Given the description of an element on the screen output the (x, y) to click on. 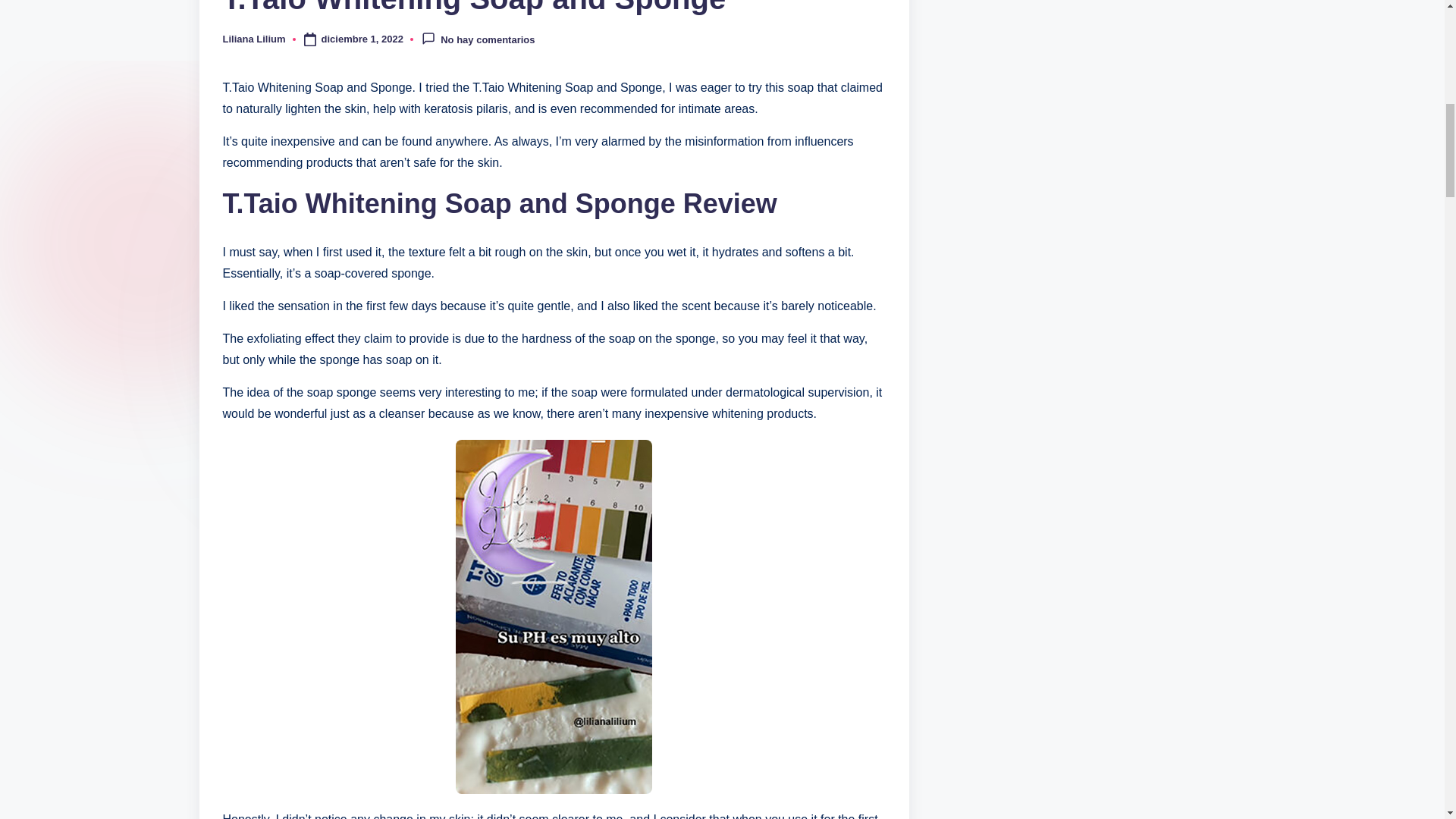
Ver todas las entradas de Liliana Lilium (253, 39)
